Given the description of an element on the screen output the (x, y) to click on. 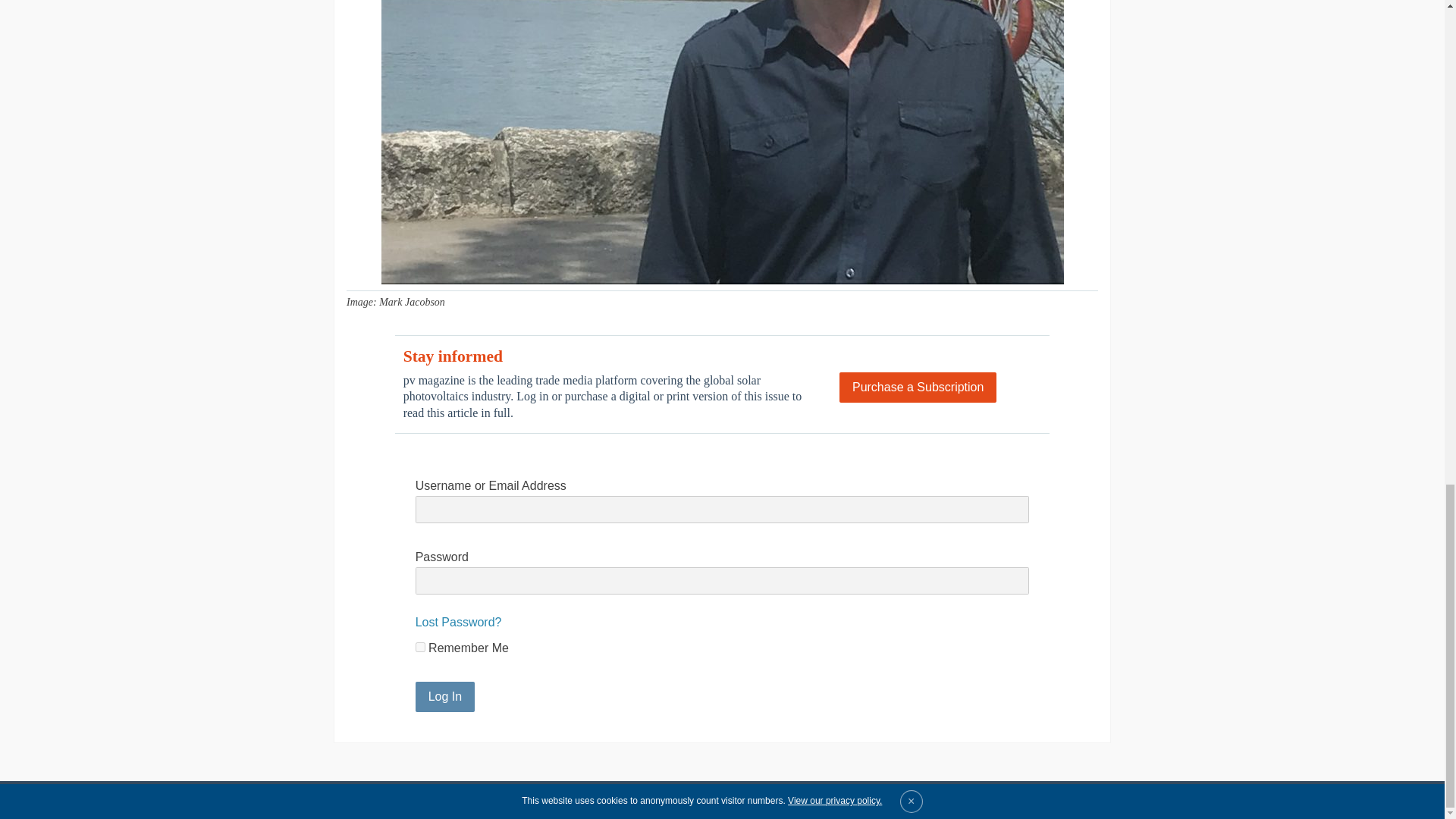
Log In (444, 696)
forever (419, 646)
